Given the description of an element on the screen output the (x, y) to click on. 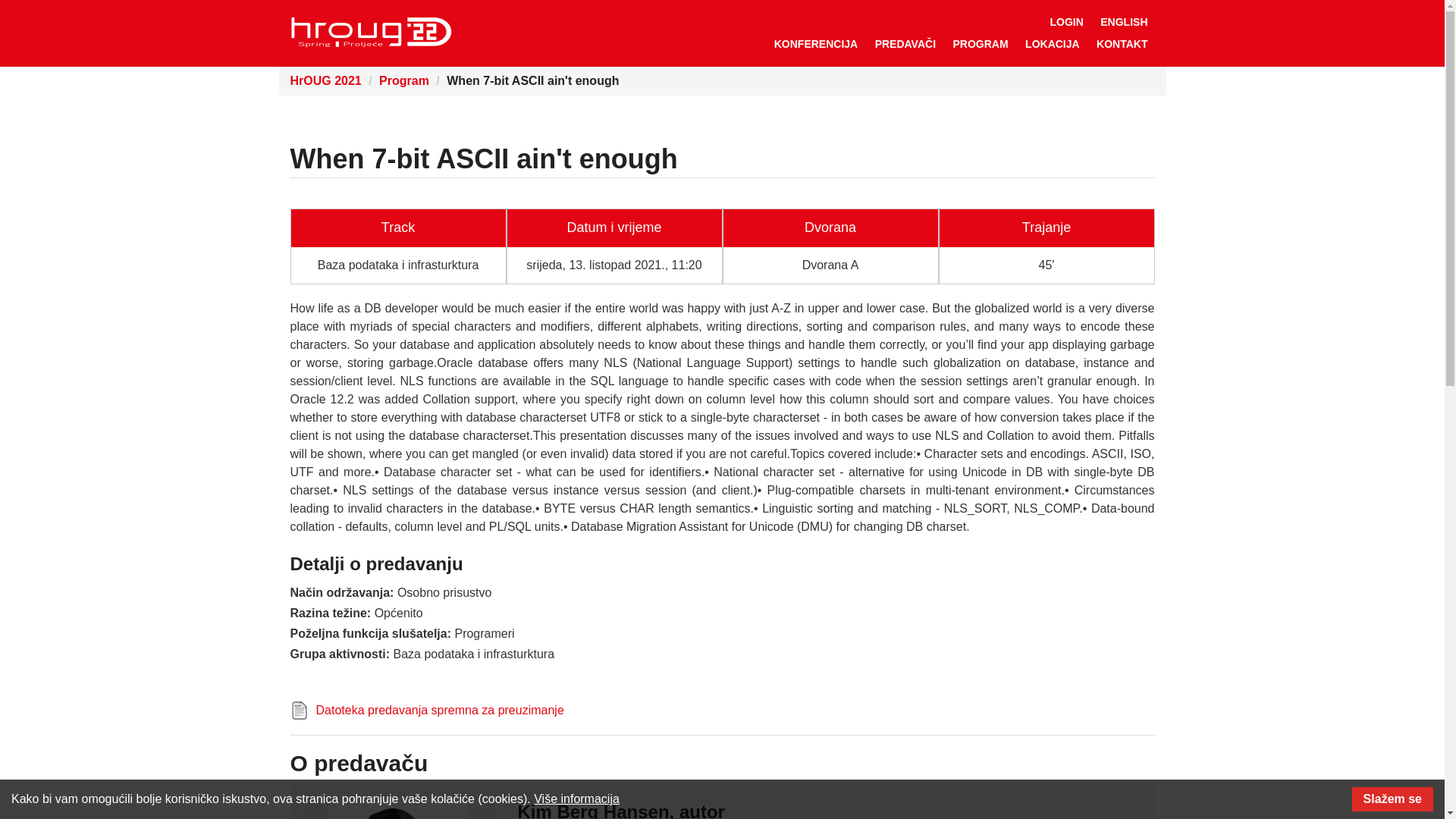
HrOUG 2022 Spring (370, 32)
LOGIN (1065, 21)
HrOUG 2022 Spring (370, 32)
PROGRAM (980, 43)
Program (403, 80)
KONFERENCIJA (815, 43)
Datoteka predavanja spremna za preuzimanje (439, 709)
Hansen Kim Berg (398, 809)
ENGLISH (1123, 21)
LOKACIJA (1051, 43)
